Given the description of an element on the screen output the (x, y) to click on. 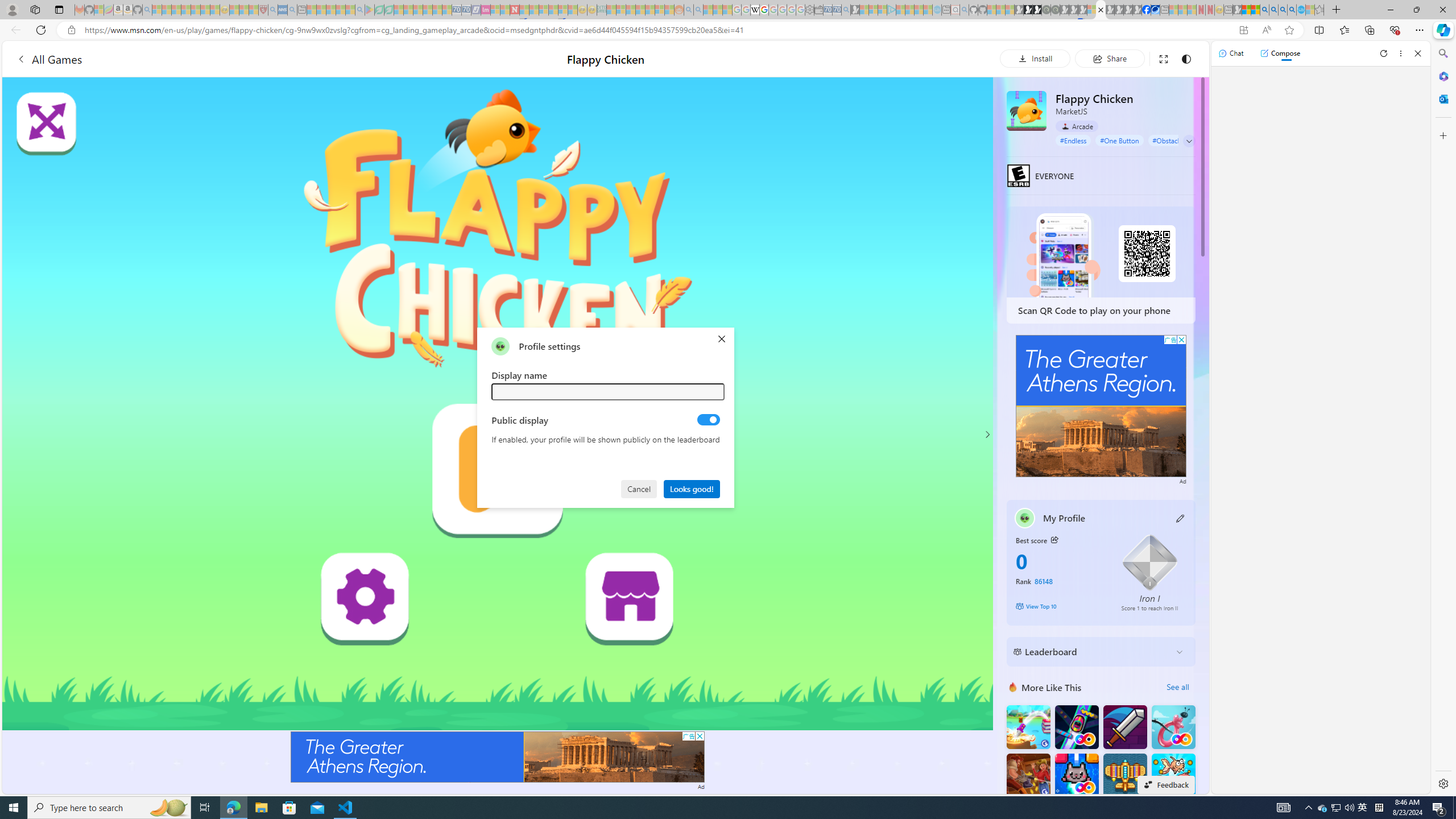
Class: control (1188, 140)
Favorites - Sleeping (1318, 9)
Flappy Chicken (1026, 110)
All Games (212, 58)
AutomationID: canvas (497, 403)
